Given the description of an element on the screen output the (x, y) to click on. 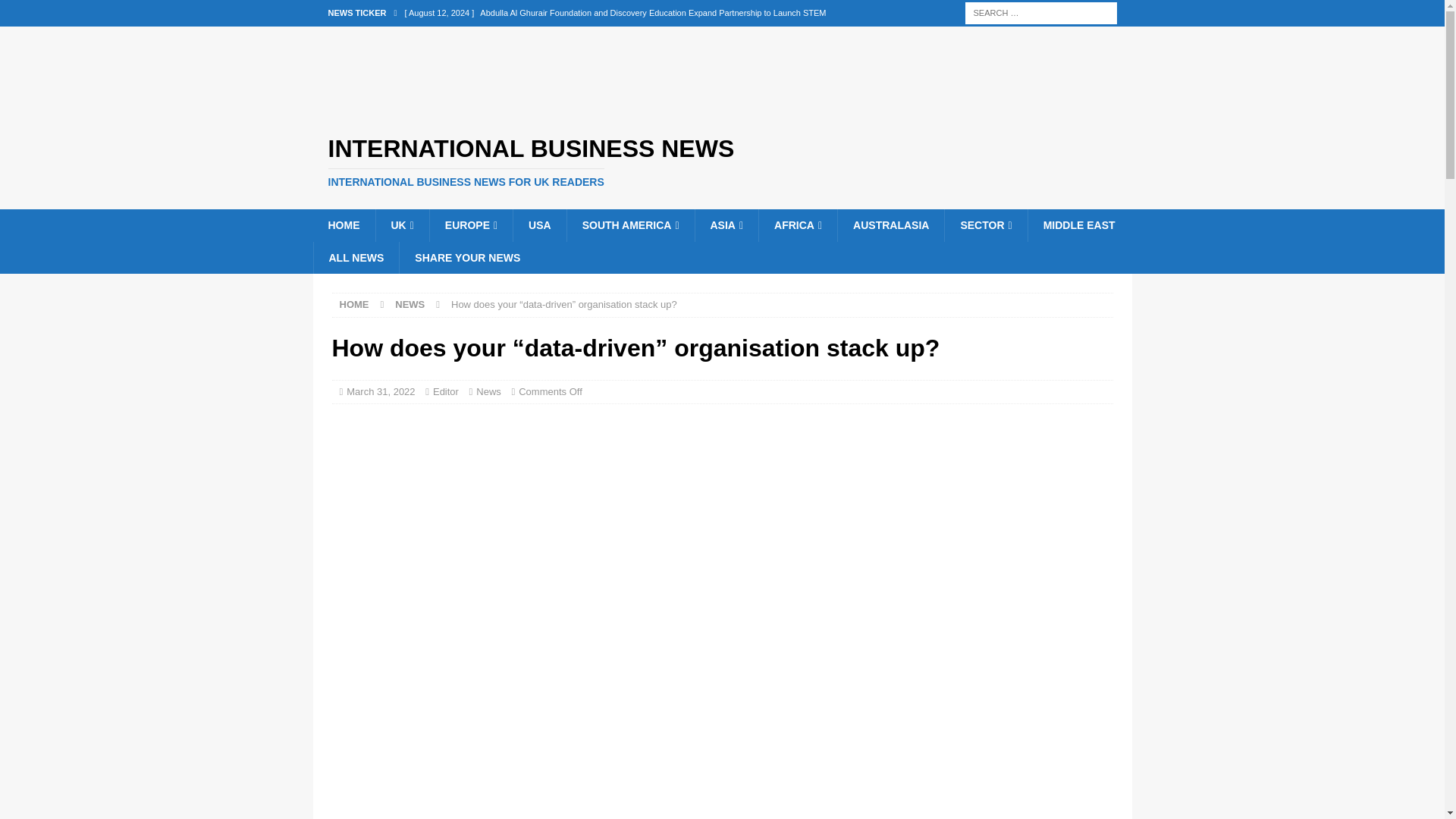
ASIA (726, 224)
USA (539, 224)
EUROPE (470, 224)
UK (401, 224)
AFRICA (797, 224)
HOME (343, 224)
SOUTH AMERICA (630, 224)
SECTOR (984, 224)
AUSTRALASIA (890, 224)
